Given the description of an element on the screen output the (x, y) to click on. 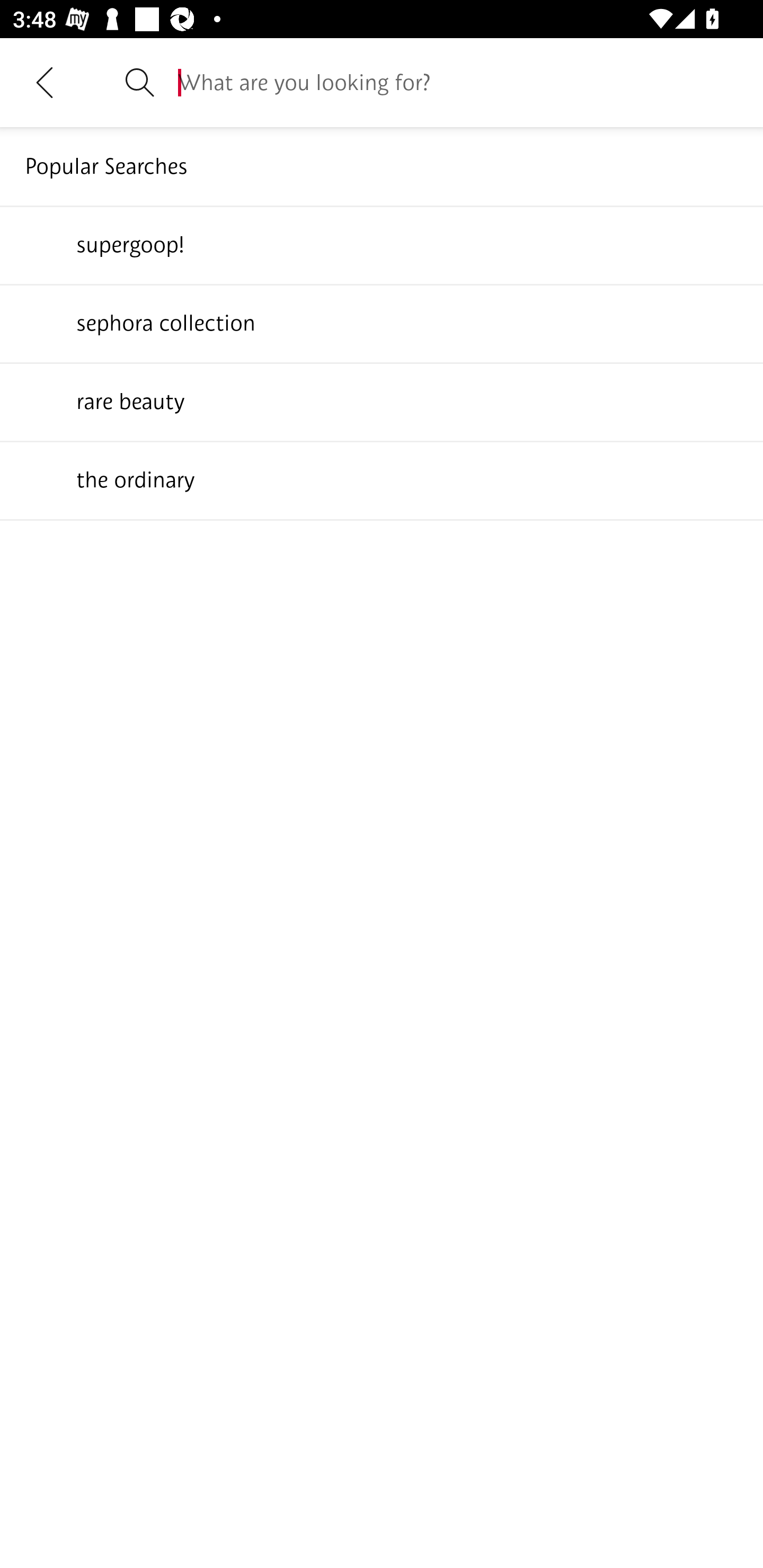
Navigate up (44, 82)
What are you looking for? (457, 82)
supergoop! (381, 244)
sephora collection (381, 322)
rare beauty (381, 401)
the ordinary (381, 479)
